Given the description of an element on the screen output the (x, y) to click on. 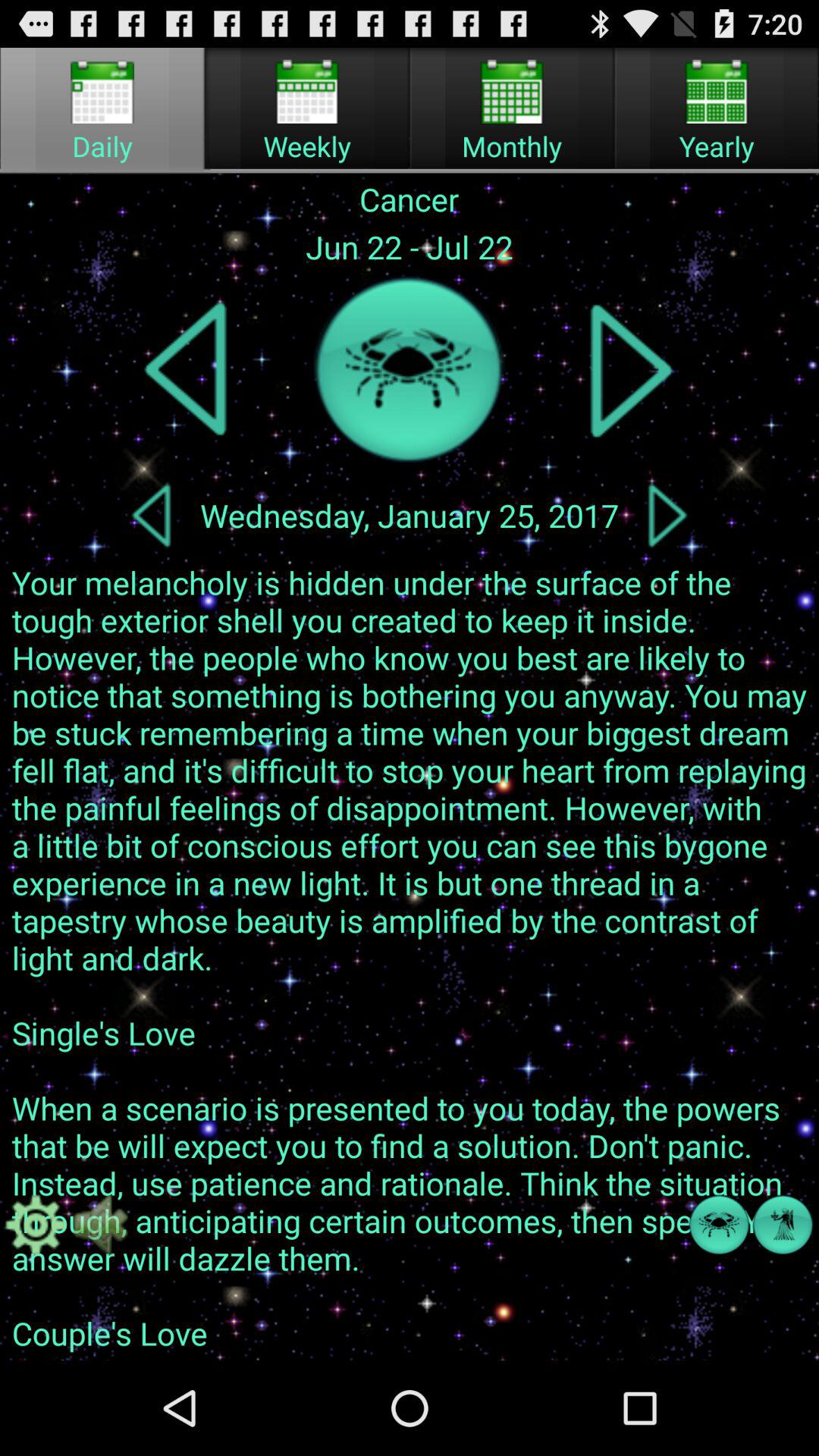
go forward (667, 514)
